Given the description of an element on the screen output the (x, y) to click on. 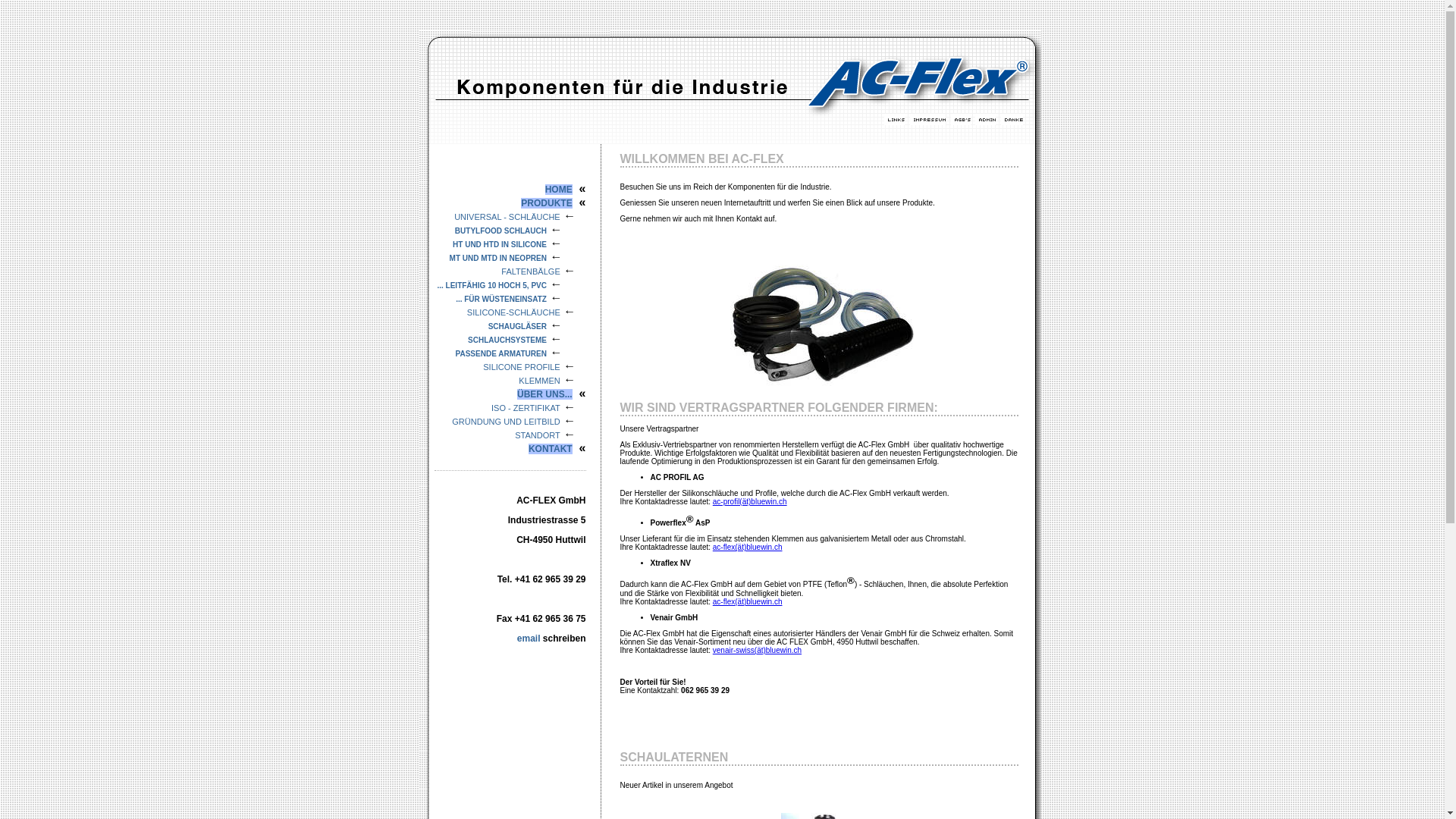
KLEMMEN Element type: text (538, 380)
PRODUKTE Element type: text (545, 203)
KONTAKT Element type: text (550, 449)
STANDORT Element type: text (537, 434)
SILICONE PROFILE Element type: text (521, 366)
ISO - ZERTIFIKAT Element type: text (525, 407)
HT UND HTD IN SILICONE Element type: text (499, 244)
SCHLAUCHSYSTEME Element type: text (506, 339)
BUTYLFOOD SCHLAUCH Element type: text (500, 230)
HOME Element type: text (558, 189)
PASSENDE ARMATUREN Element type: text (500, 353)
MT UND MTD IN NEOPREN Element type: text (497, 258)
email Element type: text (528, 638)
